Given the description of an element on the screen output the (x, y) to click on. 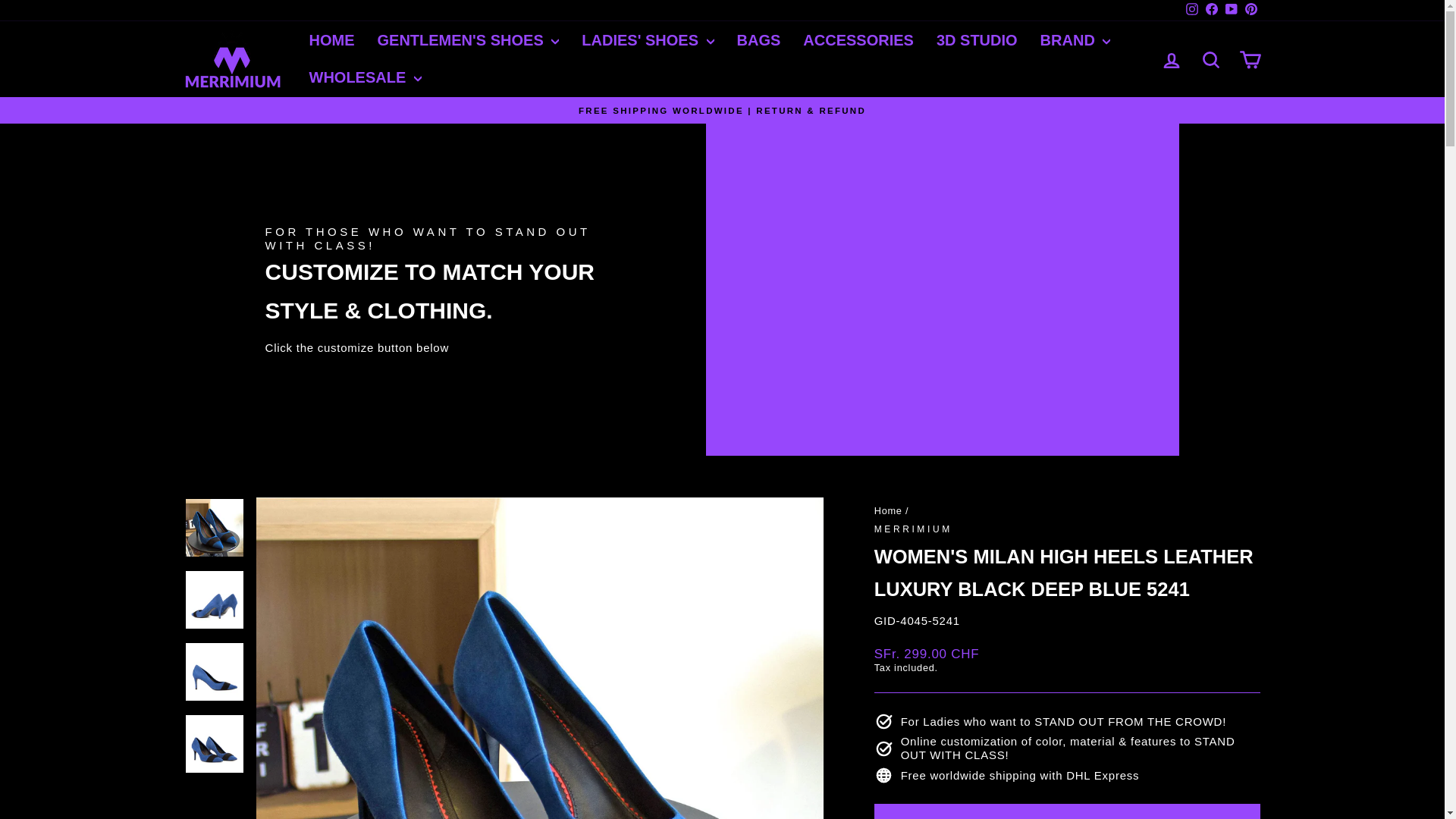
Back to the frontpage (888, 510)
MERRIMIUM on Instagram (1190, 10)
ICON-SEARCH (1210, 59)
MERRIMIUM on Facebook (1211, 10)
MERRIMIUM (913, 529)
MERRIMIUM on Pinterest (1250, 10)
ACCOUNT (1170, 60)
MERRIMIUM on YouTube (1230, 10)
instagram (1192, 9)
